Given the description of an element on the screen output the (x, y) to click on. 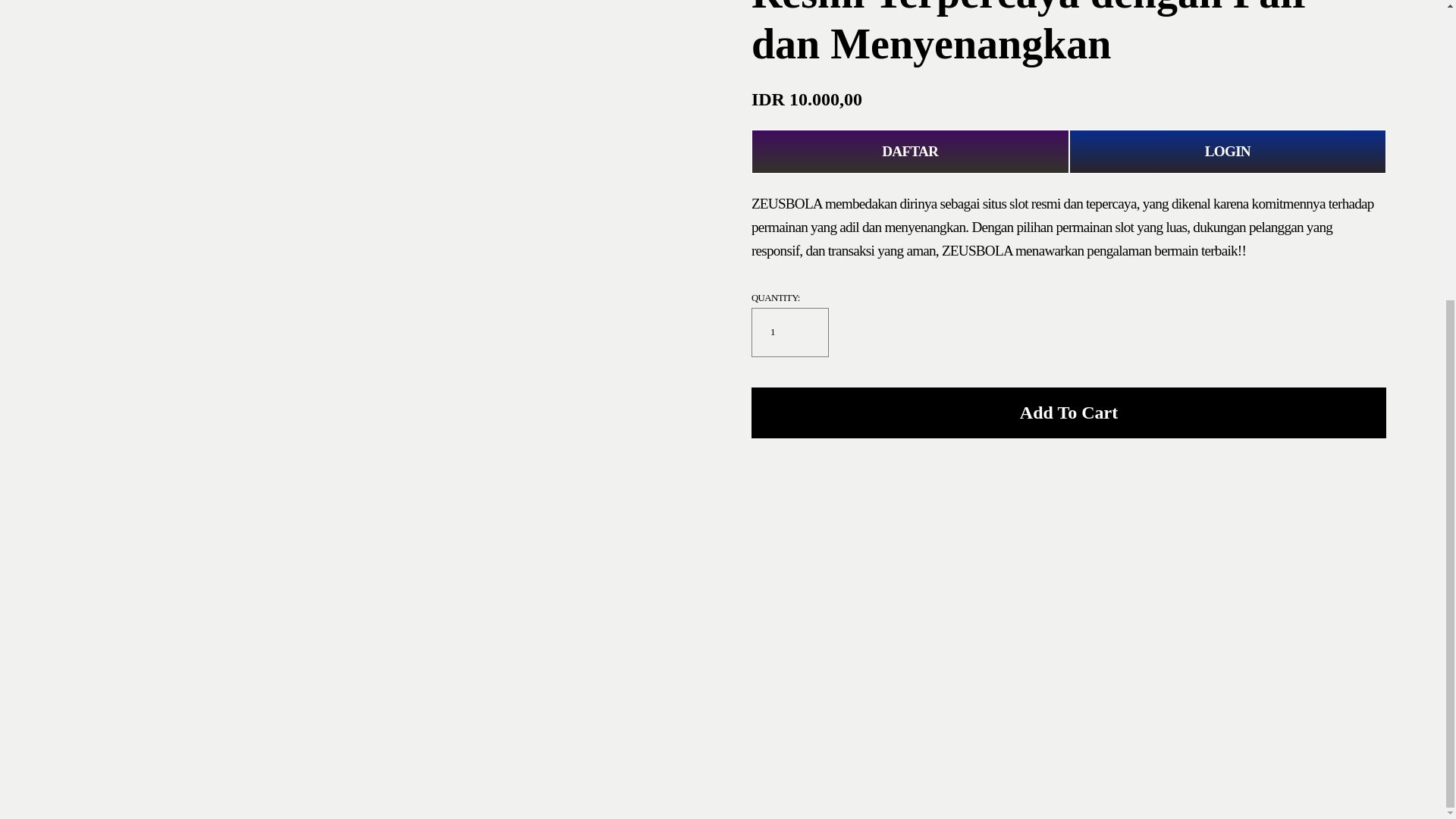
1 (789, 332)
DAFTAR (909, 151)
LOGIN (1227, 151)
